Given the description of an element on the screen output the (x, y) to click on. 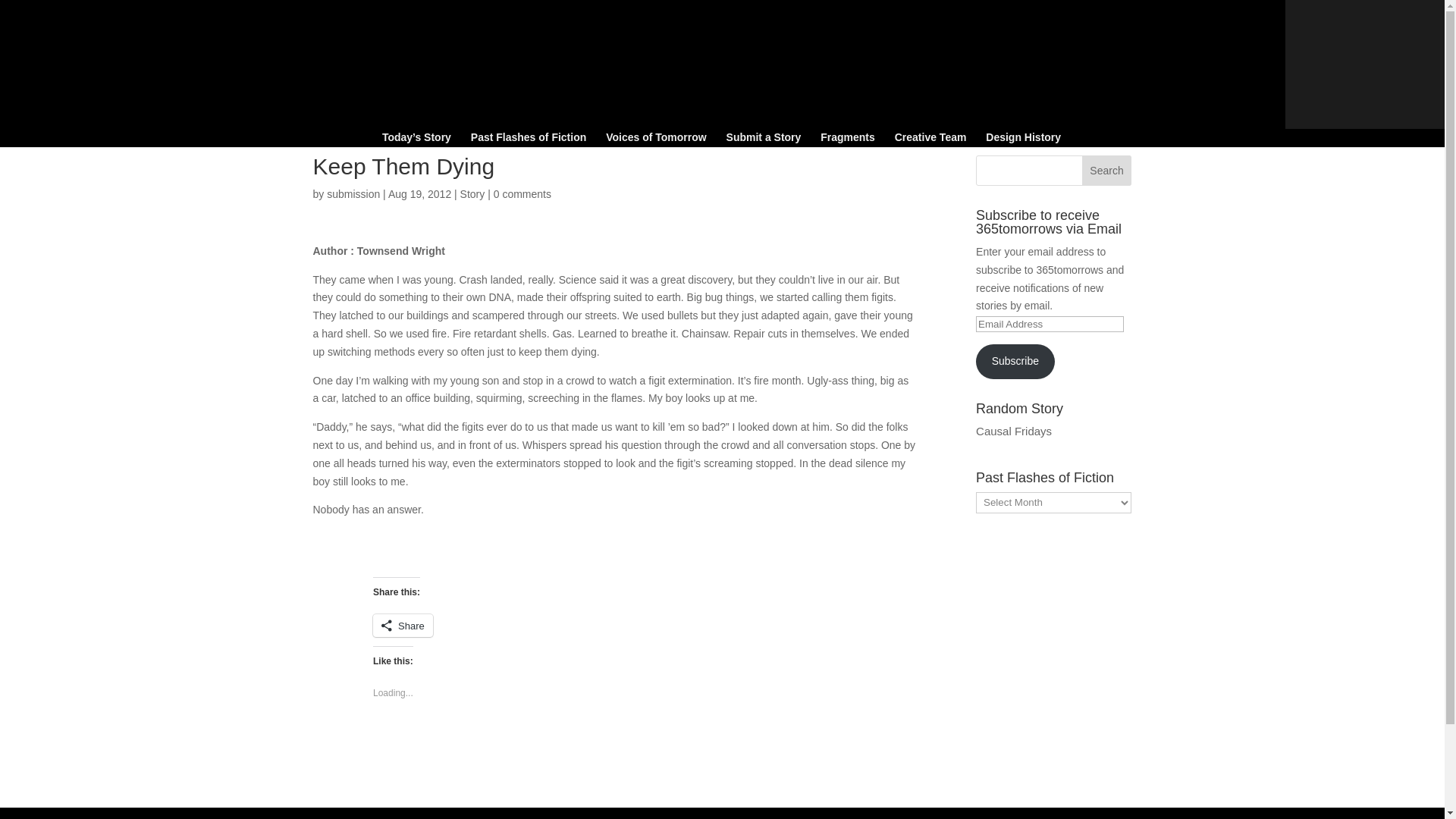
Subscribe (1014, 361)
Past Flashes of Fiction (528, 139)
0 comments (522, 193)
Search (1106, 170)
Fragments (848, 139)
Design History (1023, 139)
Posts by submission (353, 193)
Voices of Tomorrow (655, 139)
submission (353, 193)
Search (1106, 170)
Share (402, 625)
Creative Team (930, 139)
Causal Fridays (1013, 431)
Story (472, 193)
Submit a Story (764, 139)
